Given the description of an element on the screen output the (x, y) to click on. 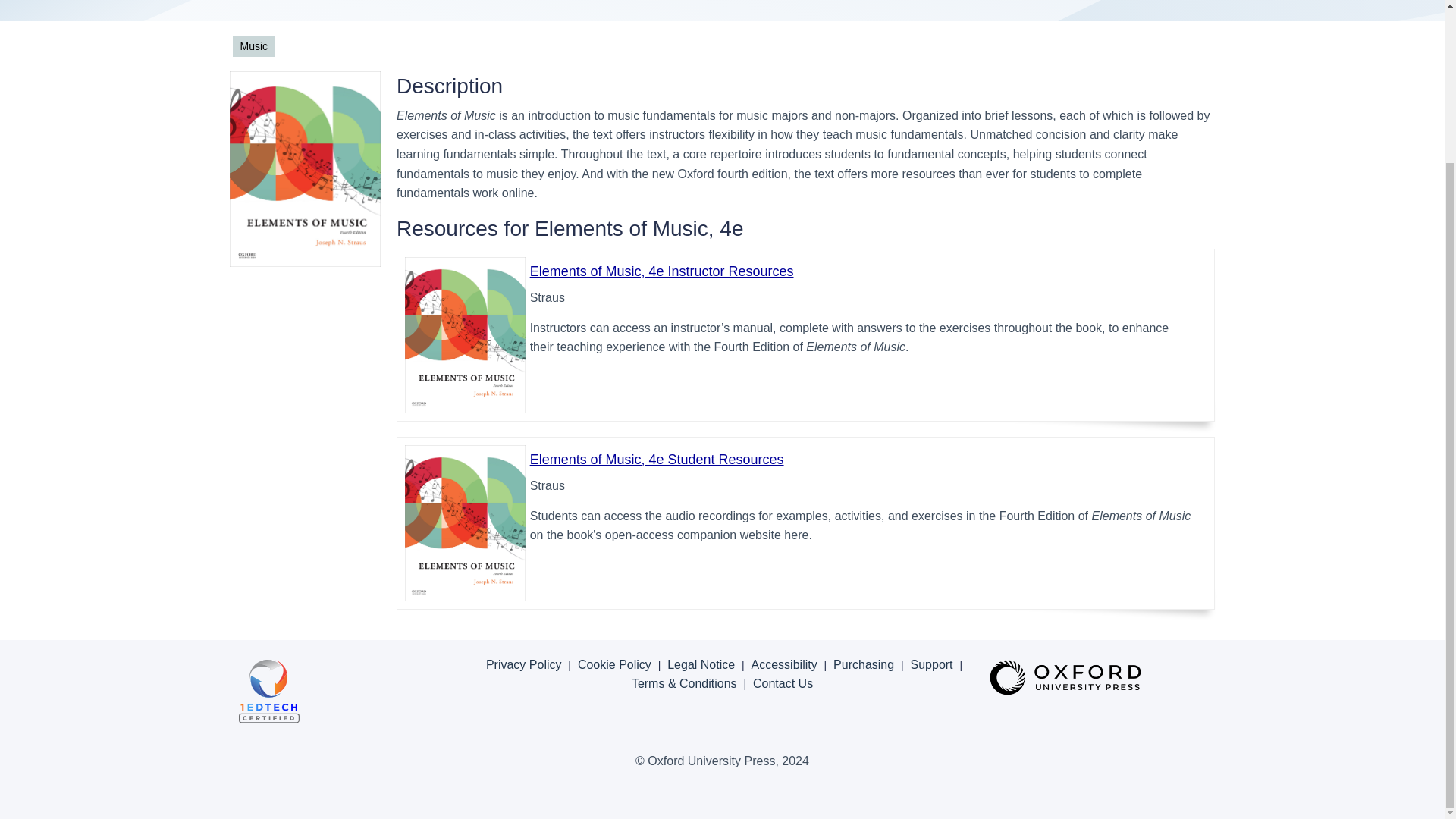
Purchasing (862, 664)
Accessibility (783, 664)
Privacy Policy (524, 664)
Elements of Music, 4e Instructor Resources (661, 271)
Cookie Policy (614, 664)
Support (932, 664)
Contact Us (782, 683)
Legal Notice (700, 664)
Elements of Music, 4e Student Resources (656, 459)
